Given the description of an element on the screen output the (x, y) to click on. 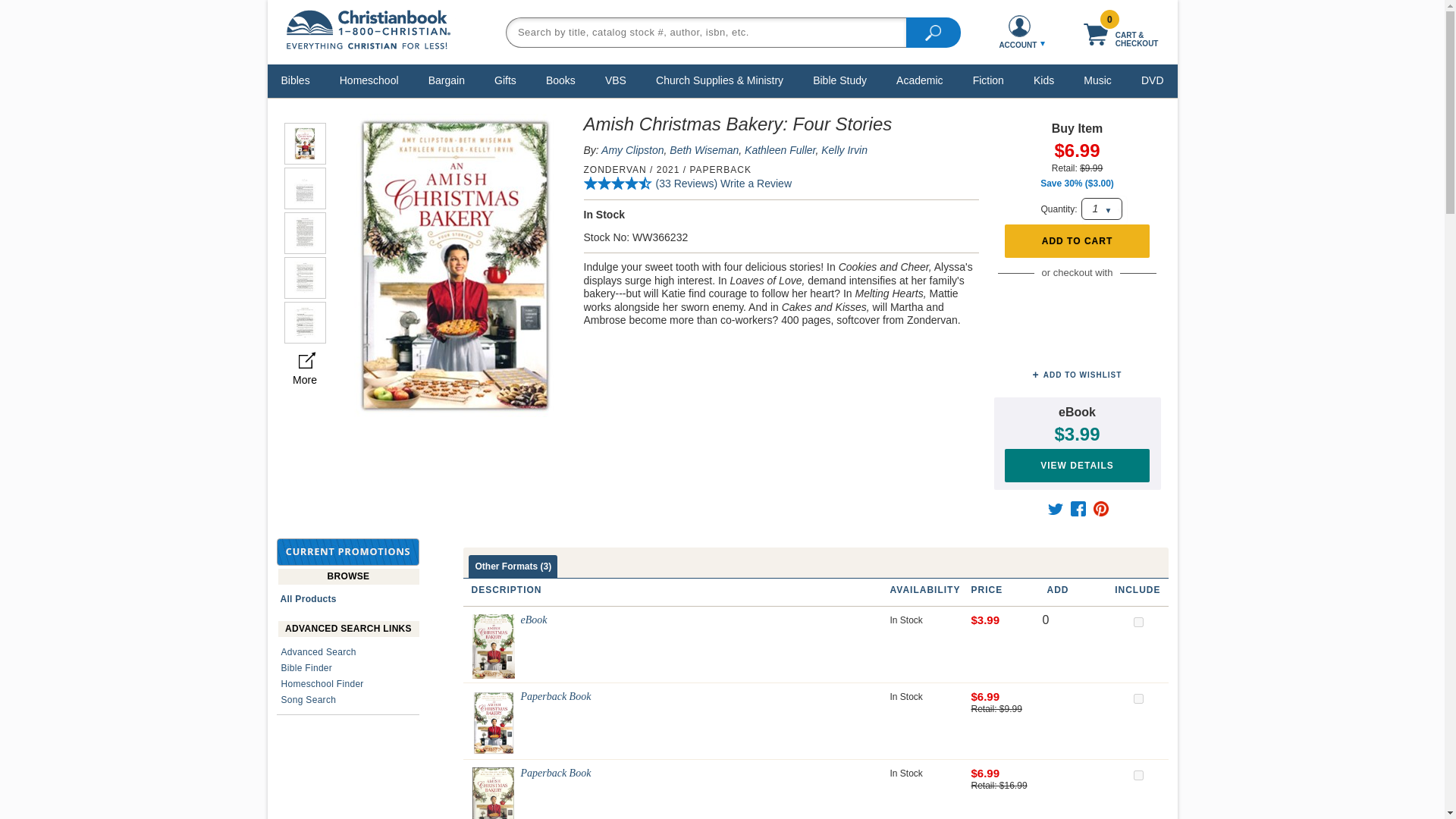
Bible Study (840, 79)
Bargain (446, 79)
Bibles (295, 79)
Kelly Irvin (844, 150)
PayPal (1076, 301)
Books (560, 79)
Music (1097, 79)
Kathleen Fuller (779, 150)
101121EB (1137, 622)
DVD (1152, 79)
